Given the description of an element on the screen output the (x, y) to click on. 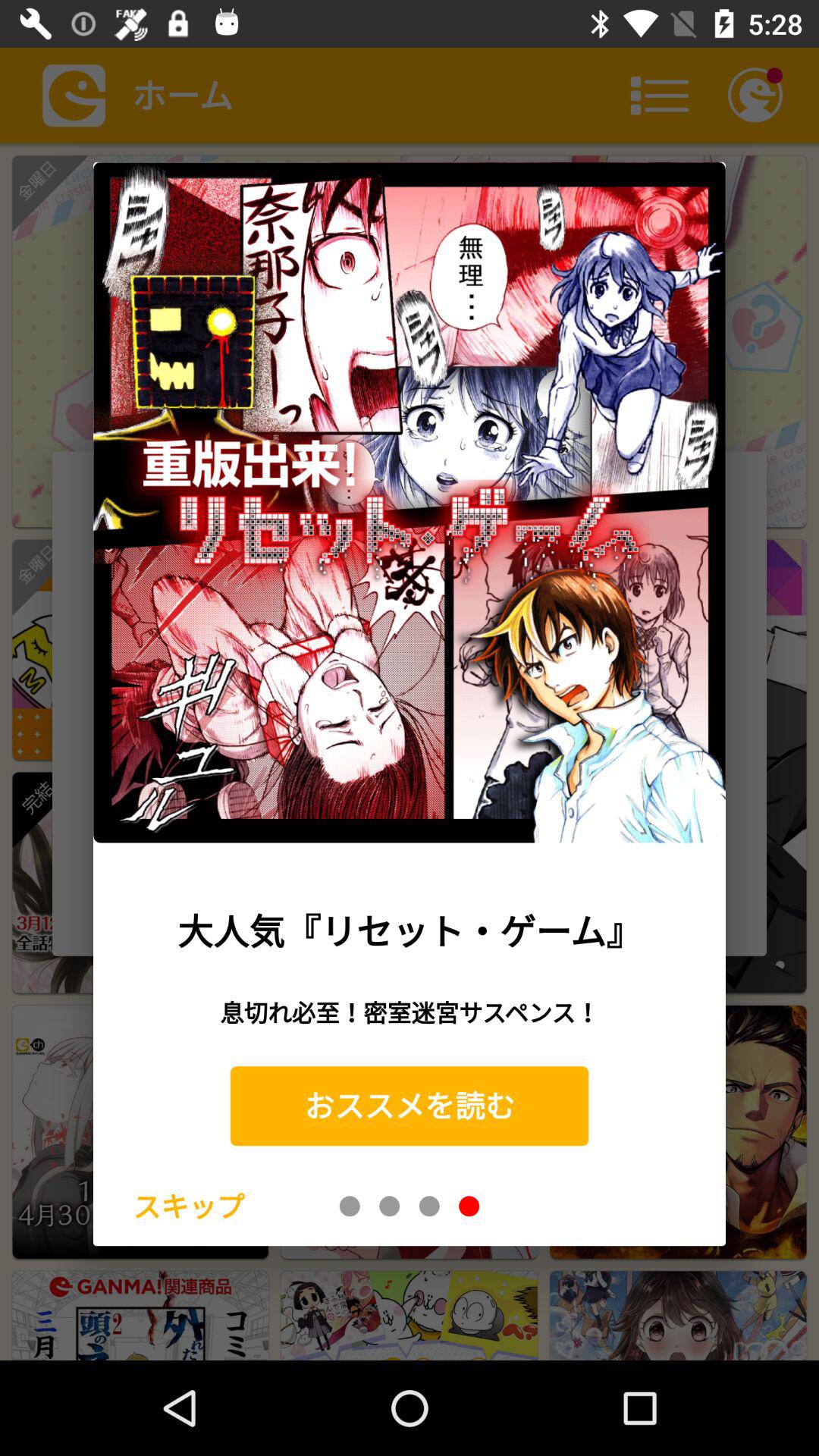
go to previous page (349, 1206)
